Given the description of an element on the screen output the (x, y) to click on. 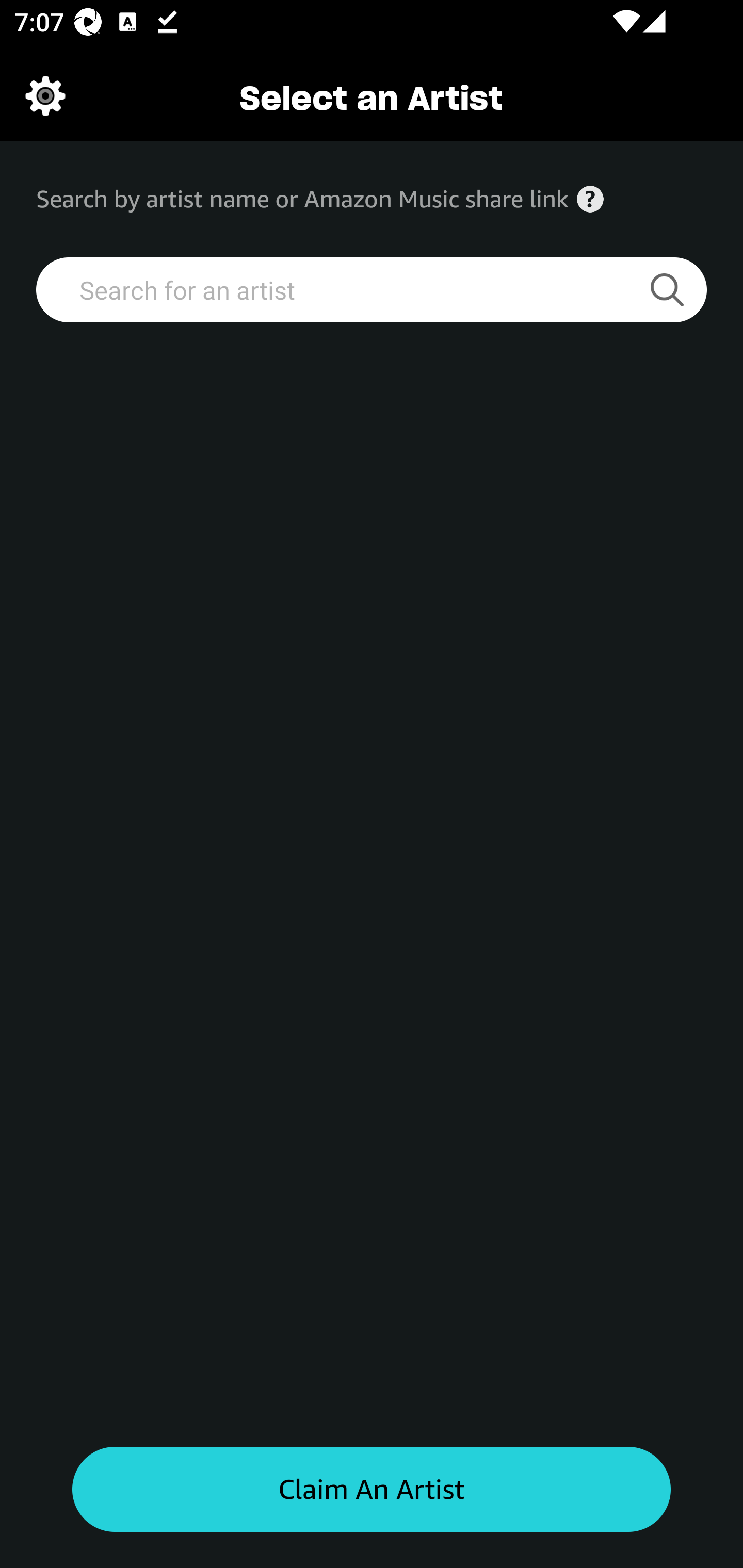
Help  icon (589, 199)
Claim an artist button Claim An Artist (371, 1489)
